Given the description of an element on the screen output the (x, y) to click on. 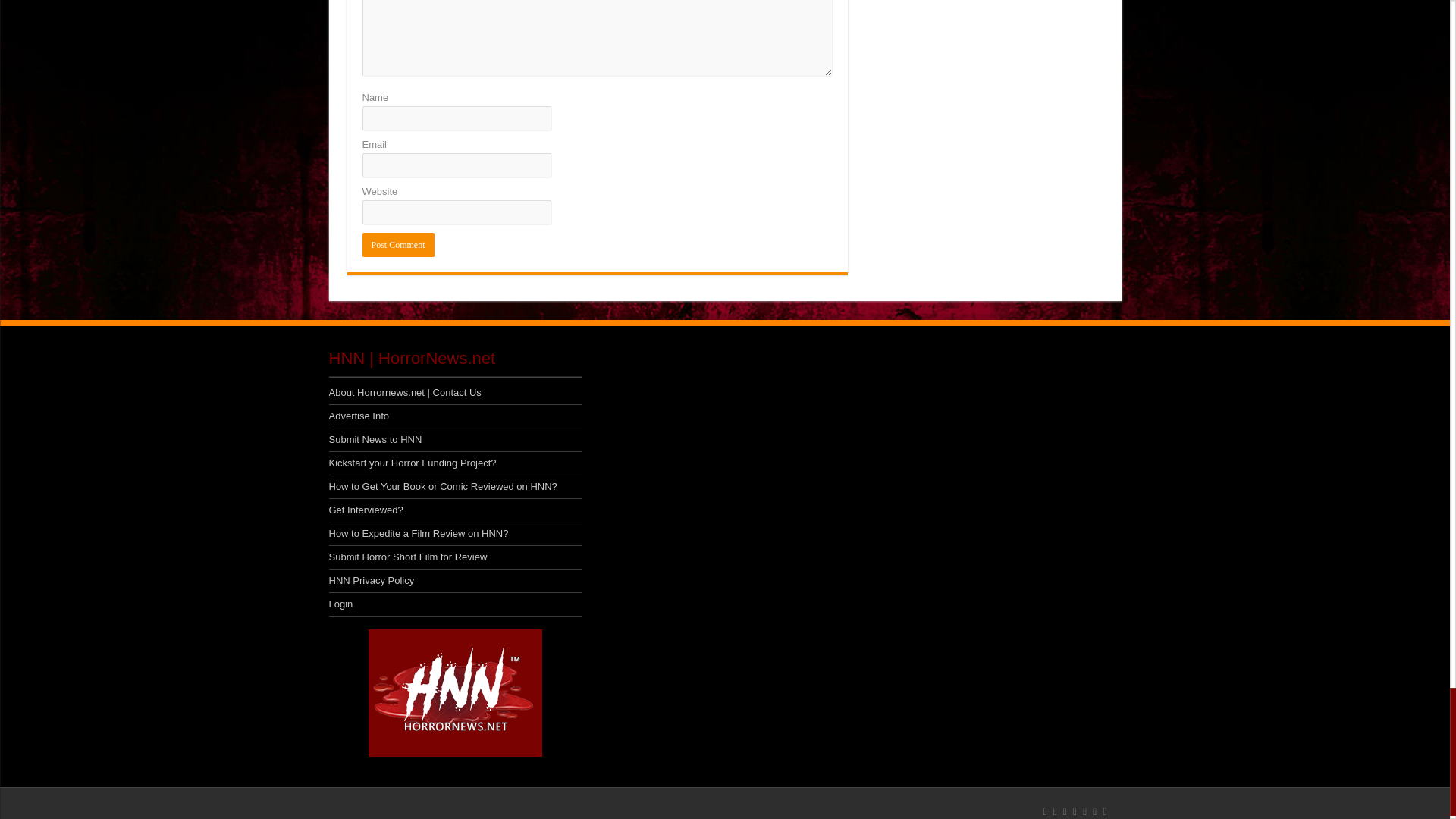
Post Comment (397, 244)
